Given the description of an element on the screen output the (x, y) to click on. 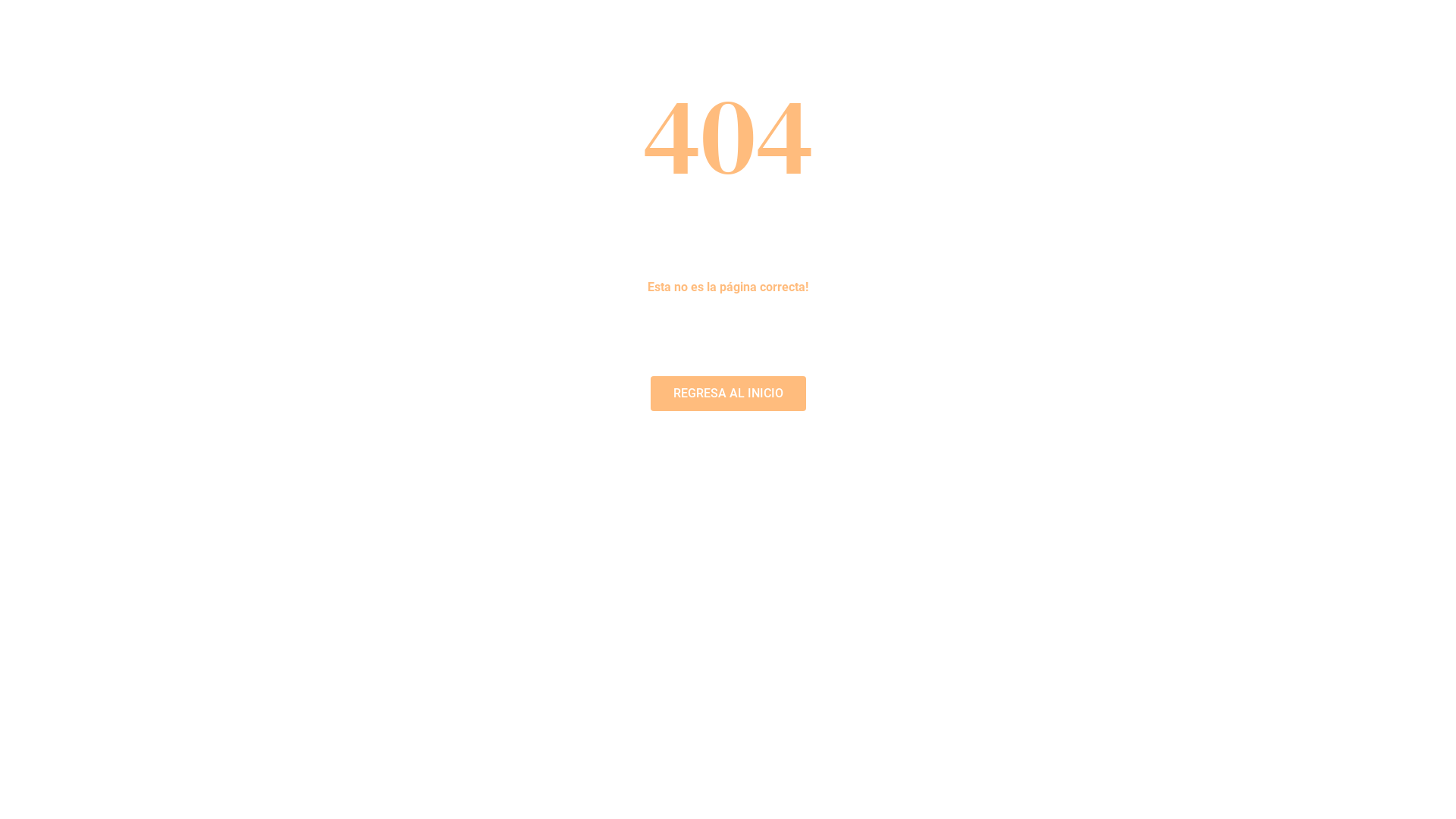
REGRESA AL INICIO Element type: text (728, 393)
